Given the description of an element on the screen output the (x, y) to click on. 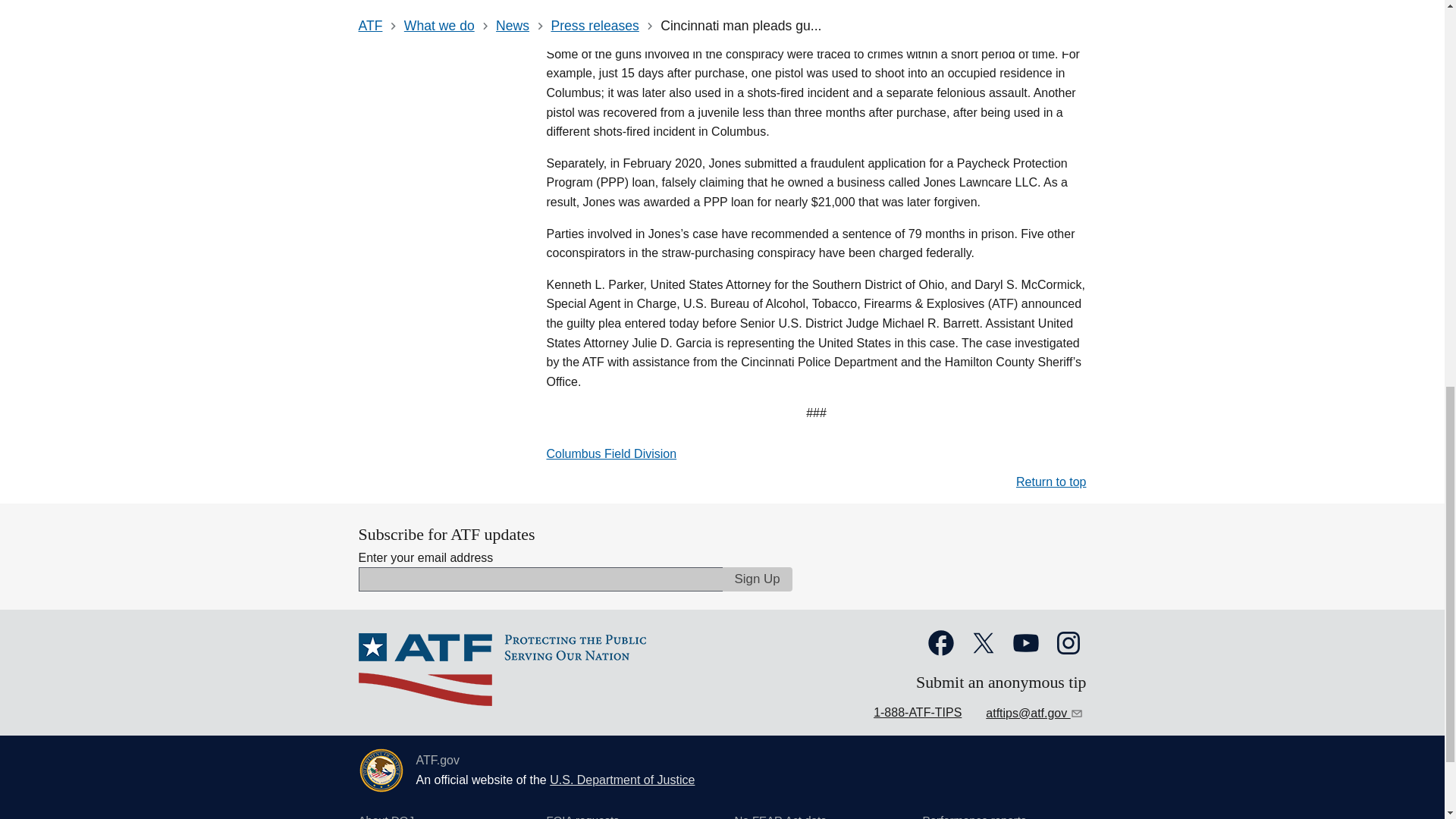
Sign Up (757, 579)
Return to top (1051, 481)
U.S. Department of Justice (622, 779)
FOIA requests (582, 815)
No FEAR Act data (780, 815)
Performance reports (973, 815)
About DOJ (385, 815)
Columbus Field Division (611, 453)
1-888-ATF-TIPS (916, 712)
